Given the description of an element on the screen output the (x, y) to click on. 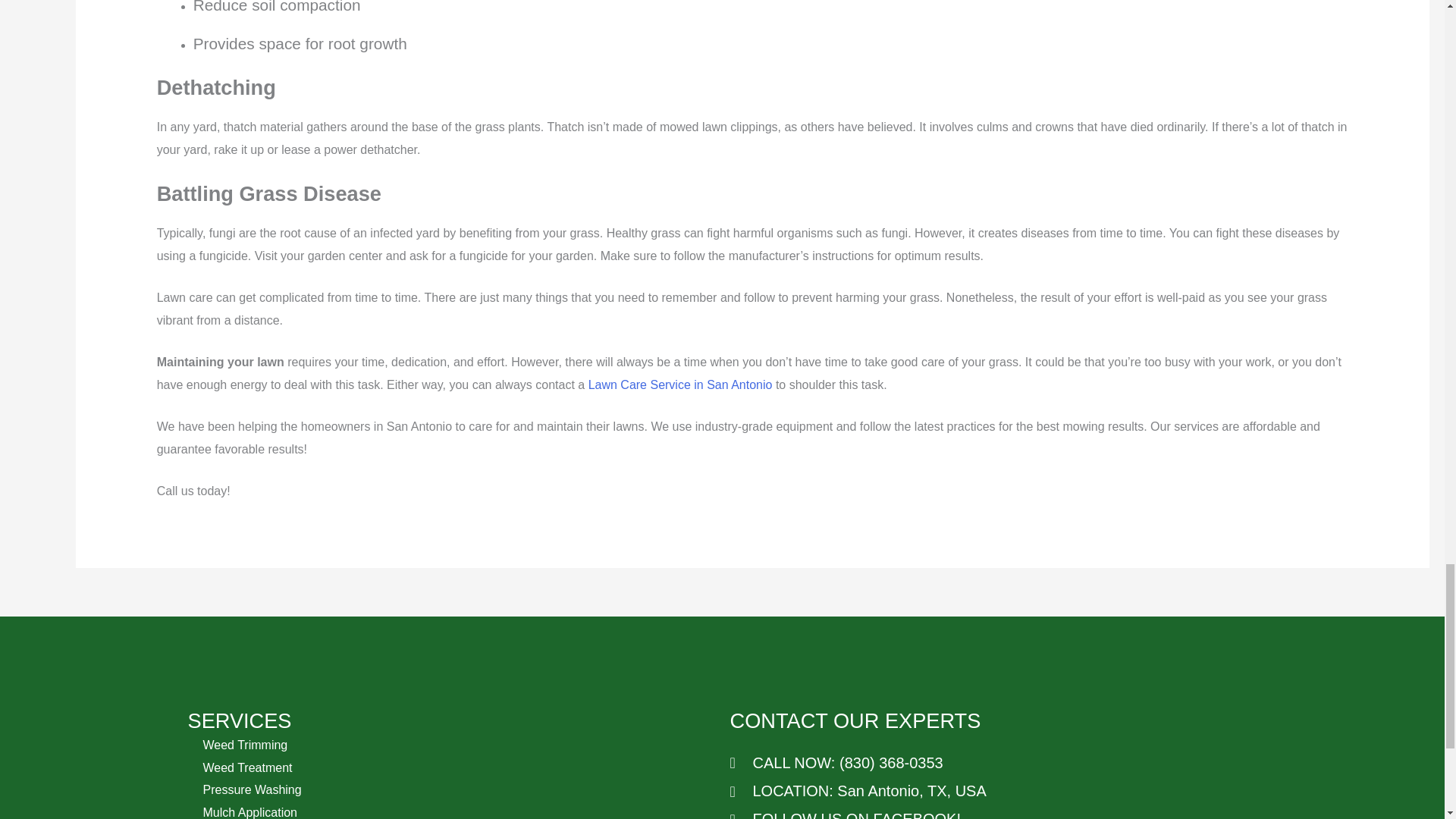
Weed Trimming (245, 744)
Mulch Application (250, 812)
Weed Treatment (247, 767)
Lawn Care Service in San Antonio (680, 384)
Pressure Washing (252, 789)
